Given the description of an element on the screen output the (x, y) to click on. 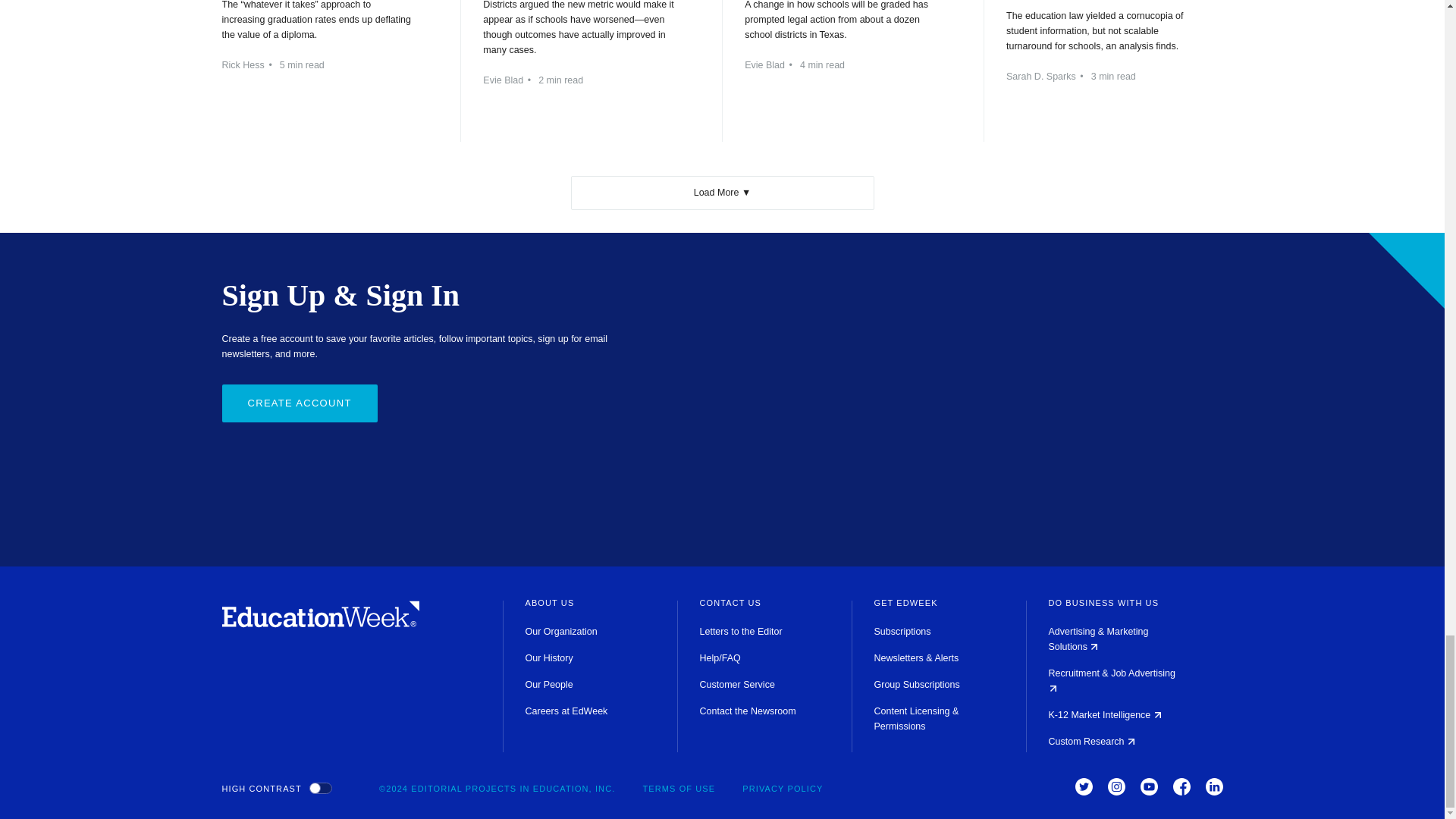
Homepage (320, 623)
